Given the description of an element on the screen output the (x, y) to click on. 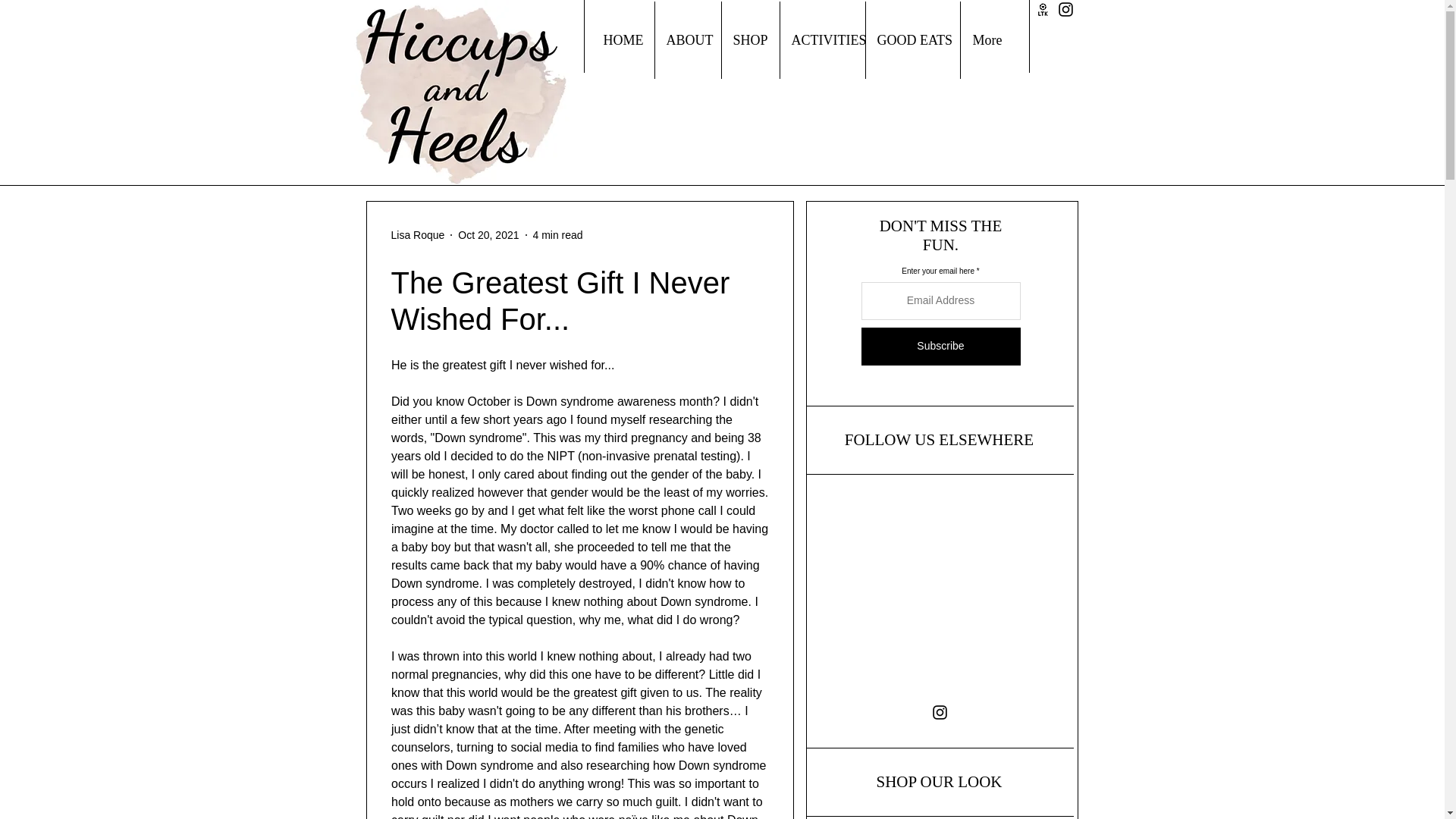
GOOD EATS (911, 39)
Oct 20, 2021 (488, 234)
4 min read (557, 234)
Lisa Roque (418, 235)
Logo.jpg (459, 92)
ACTIVITIES (821, 39)
